Given the description of an element on the screen output the (x, y) to click on. 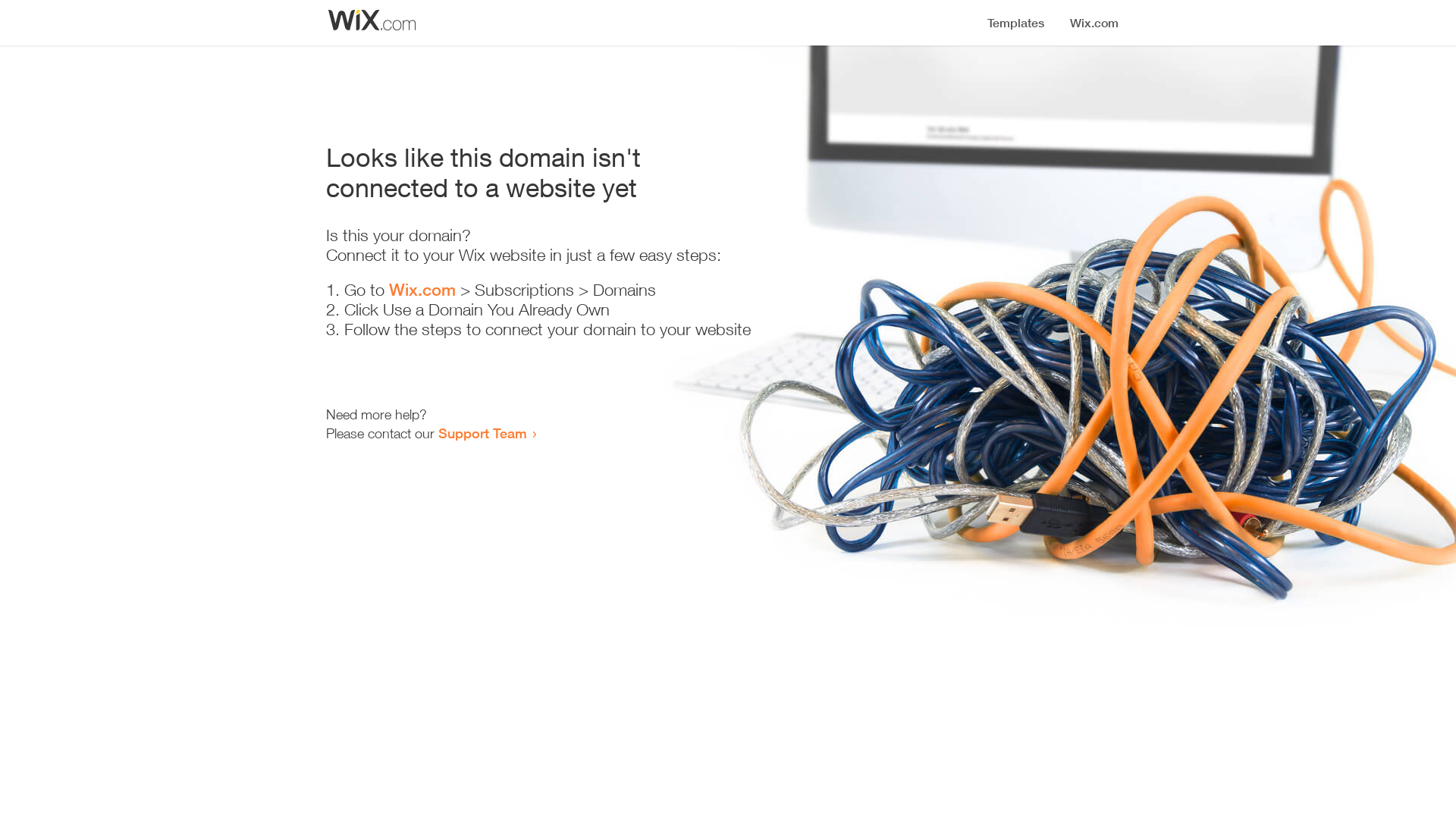
Wix.com Element type: text (422, 289)
Support Team Element type: text (482, 432)
